Given the description of an element on the screen output the (x, y) to click on. 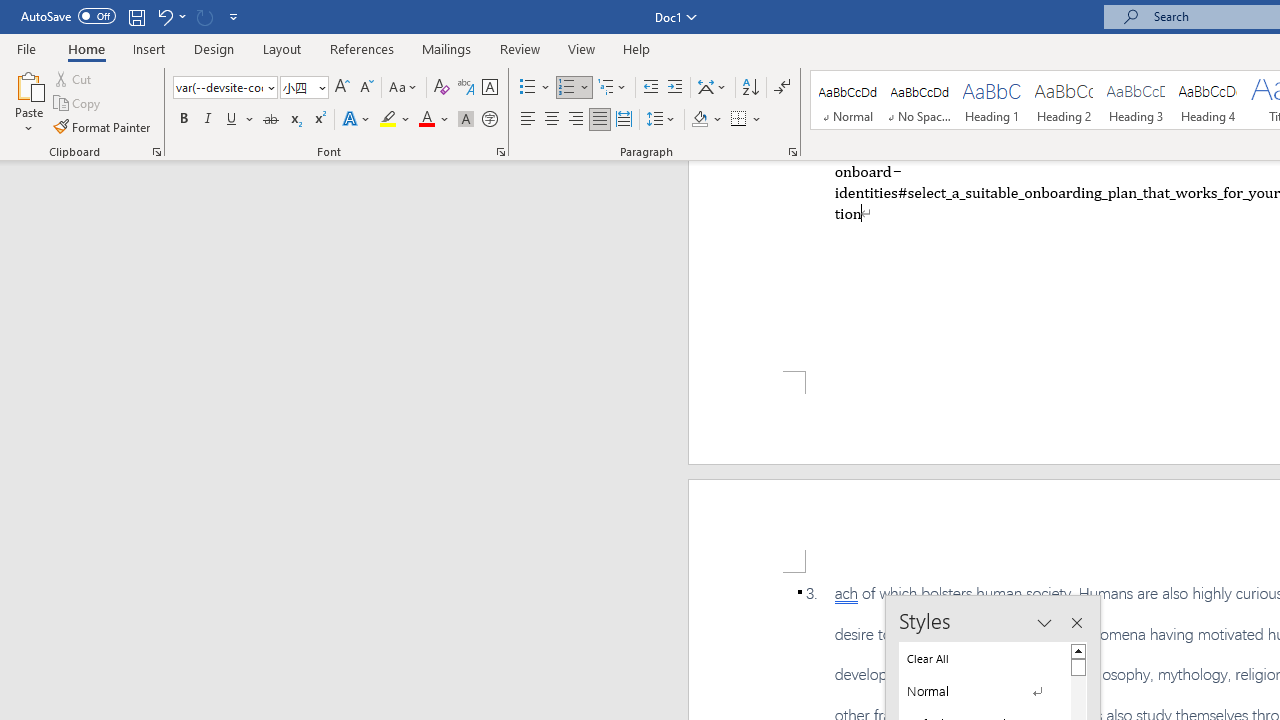
Enclose Characters... (489, 119)
Task Pane Options (1044, 623)
Close pane (1076, 623)
Asian Layout (712, 87)
Bold (183, 119)
AutoSave (68, 16)
Clear Formatting (442, 87)
Insert (149, 48)
View (582, 48)
Heading 2 (1063, 100)
Open (320, 87)
Font Color Automatic (426, 119)
Normal (984, 691)
Character Border (489, 87)
Grow Font (342, 87)
